Given the description of an element on the screen output the (x, y) to click on. 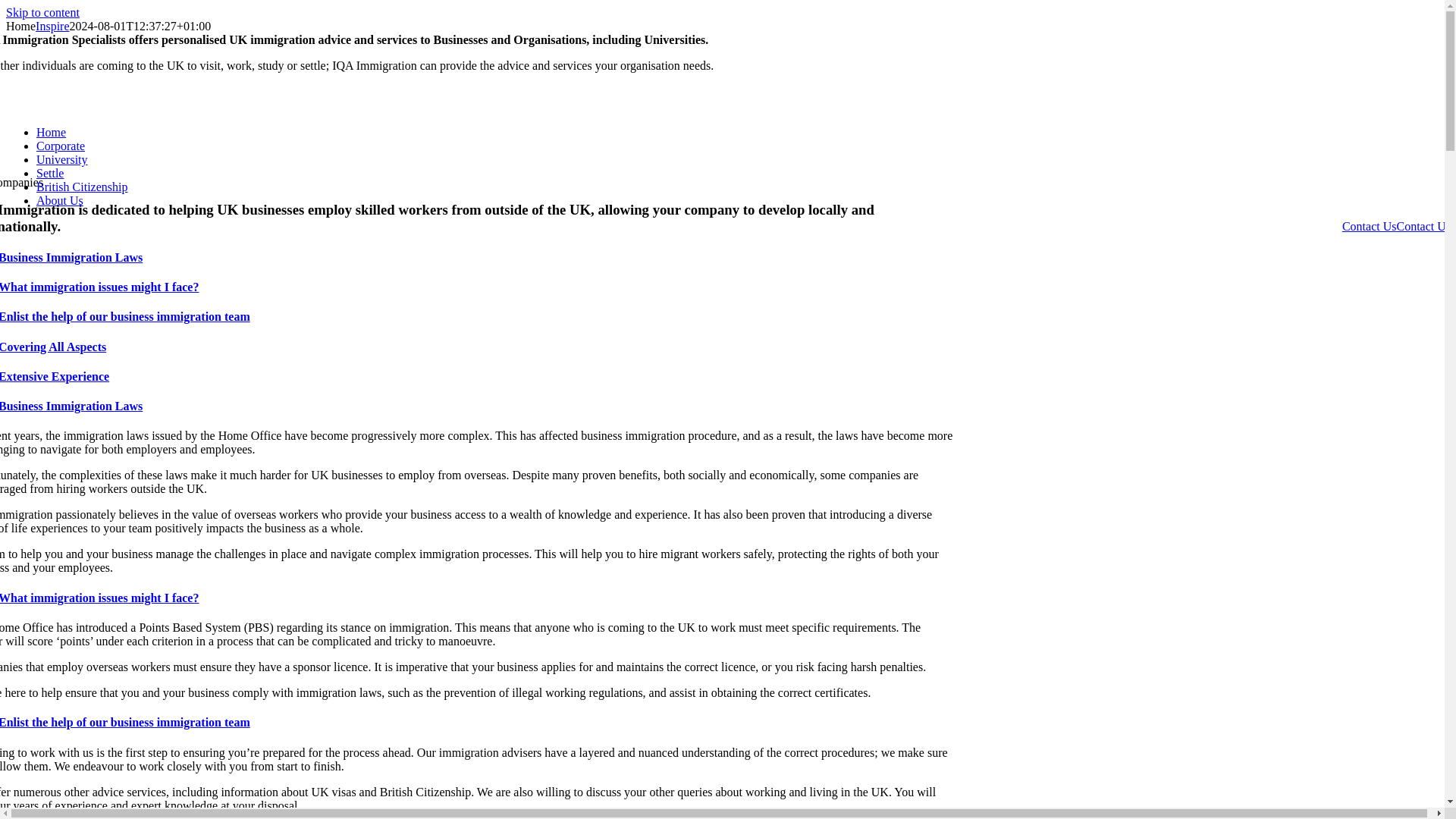
Posts by Inspire (51, 25)
Settle (50, 173)
Skip to content (42, 11)
Covering All Aspects (476, 346)
Business Immigration Laws (476, 257)
About Us (59, 200)
British Citizenship (82, 186)
Inspire (51, 25)
What immigration issues might I face? (476, 287)
What immigration issues might I face? (476, 598)
